Given the description of an element on the screen output the (x, y) to click on. 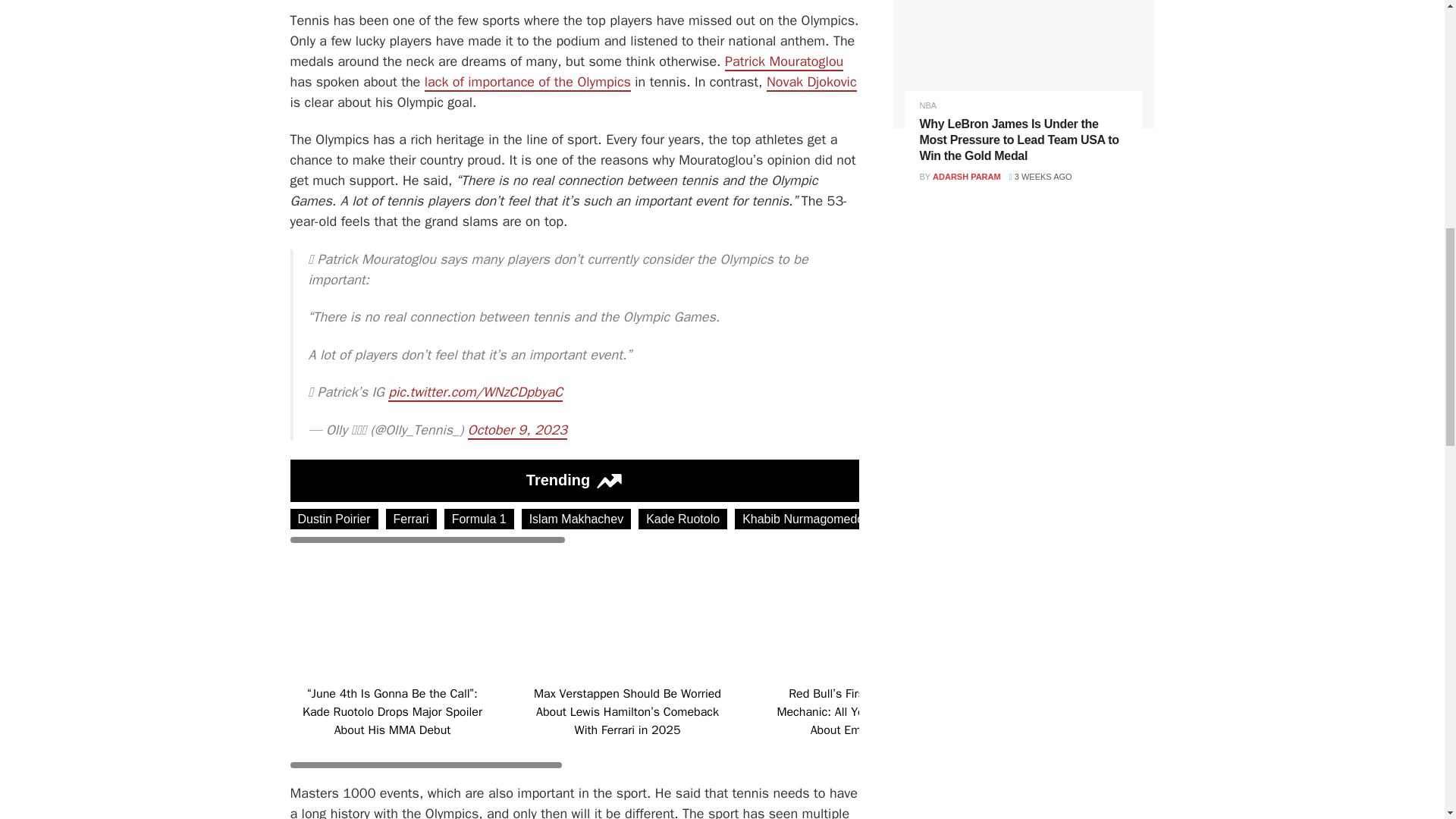
Khabib Nurmagomedov (806, 518)
Novak Djokovic (812, 82)
Ferrari (410, 518)
October 9, 2023 (517, 430)
Kade Ruotolo (682, 518)
Dustin Poirier (333, 518)
Formula 1 (478, 518)
Patrick Mouratoglou (784, 62)
